Given the description of an element on the screen output the (x, y) to click on. 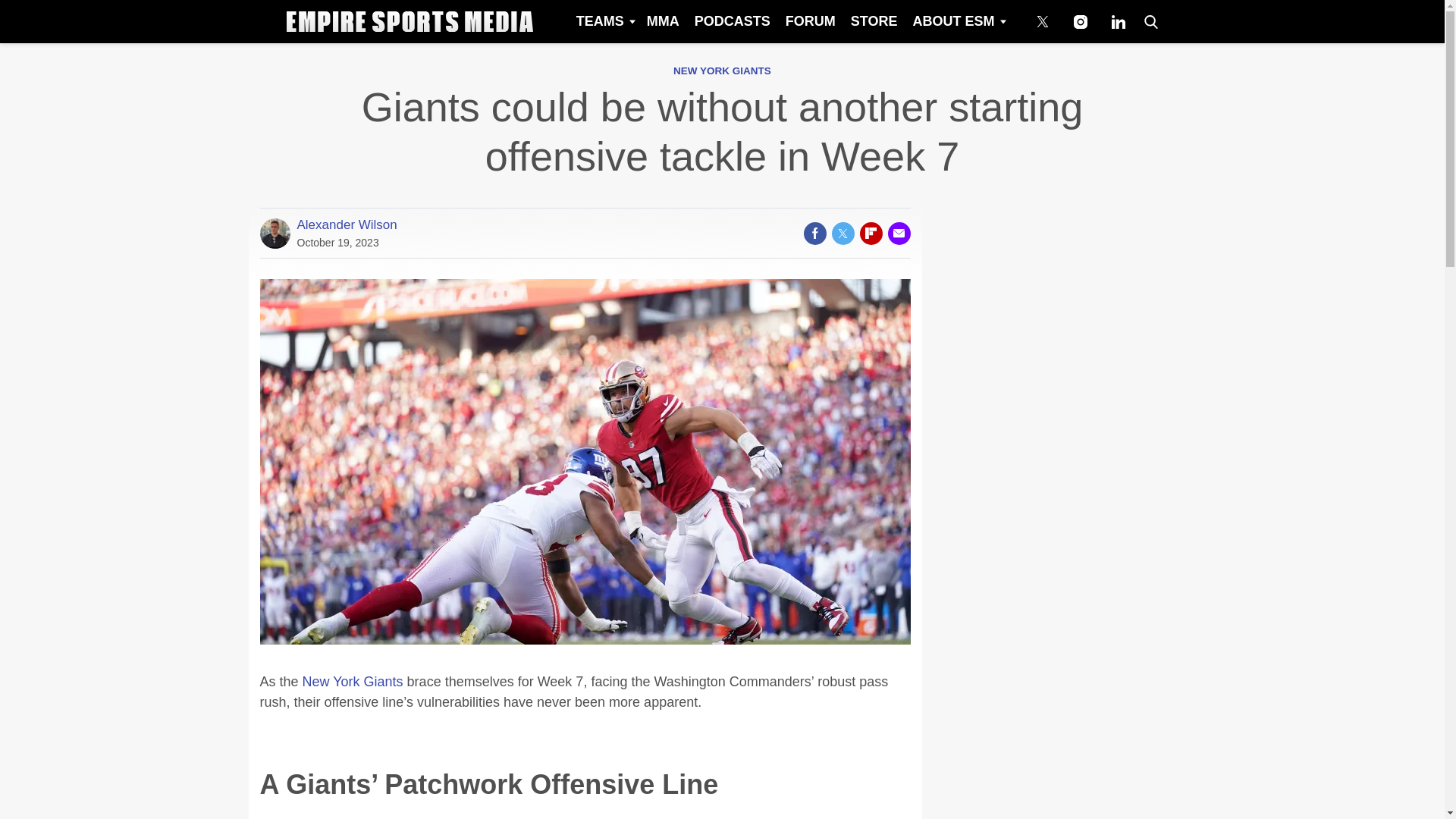
Share on Twitter (842, 232)
Share on Flipboard (871, 232)
Posts by Alexander Wilson (347, 225)
ABOUT ESM (957, 21)
STORE (874, 21)
New York Giants (352, 681)
Share via Email (898, 232)
PODCASTS (732, 21)
TEAMS (604, 21)
FORUM (810, 21)
